Given the description of an element on the screen output the (x, y) to click on. 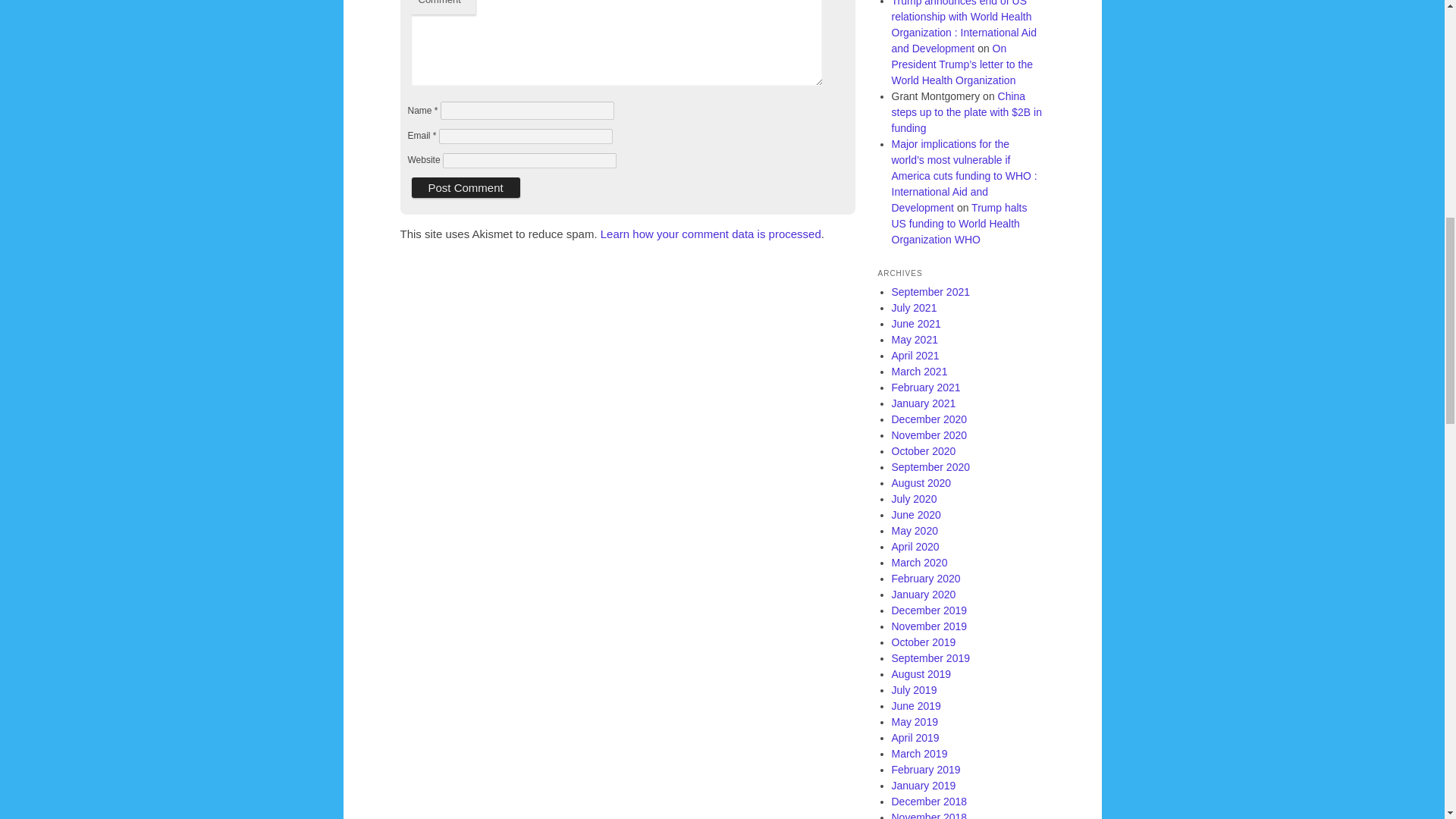
Post Comment (464, 187)
December 2020 (929, 419)
July 2021 (914, 307)
June 2021 (915, 323)
April 2021 (915, 355)
Learn how your comment data is processed (710, 233)
February 2021 (925, 387)
Trump halts US funding to World Health Organization WHO (959, 223)
September 2021 (931, 291)
October 2020 (923, 451)
November 2020 (929, 435)
May 2021 (914, 339)
January 2021 (923, 403)
March 2021 (919, 371)
